Given the description of an element on the screen output the (x, y) to click on. 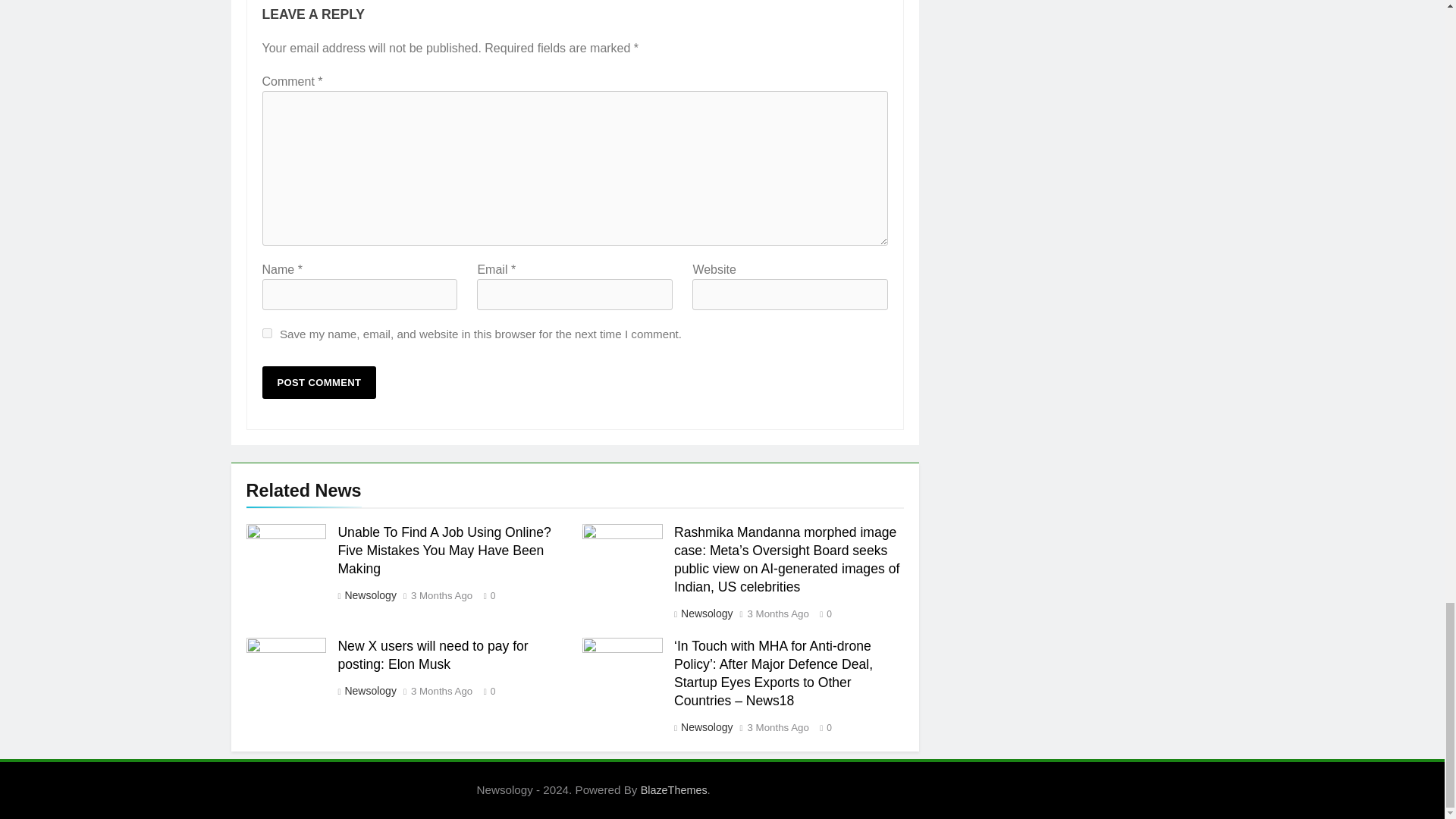
yes (267, 333)
Post Comment (319, 382)
